Given the description of an element on the screen output the (x, y) to click on. 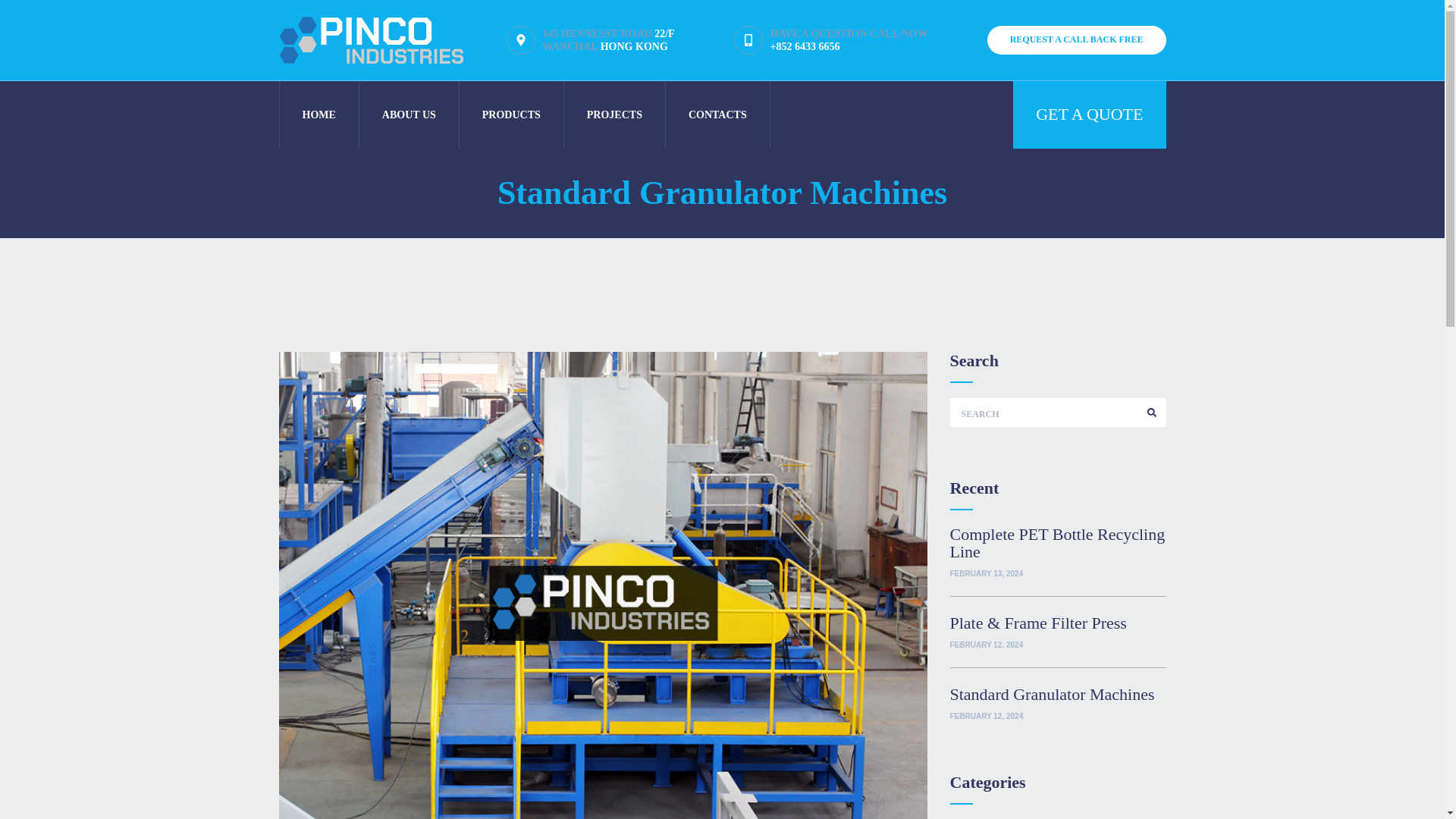
Complete PET Bottle Recycling Line (1057, 542)
Standard Granulator Machines (1057, 693)
CONTACTS (717, 114)
SEARCH (1151, 412)
HOME (318, 114)
GET A QUOTE (1089, 114)
REQUEST A CALL BACK FREE (1076, 39)
PROJECTS (614, 114)
PRODUCTS (511, 114)
ABOUT US (408, 114)
